Given the description of an element on the screen output the (x, y) to click on. 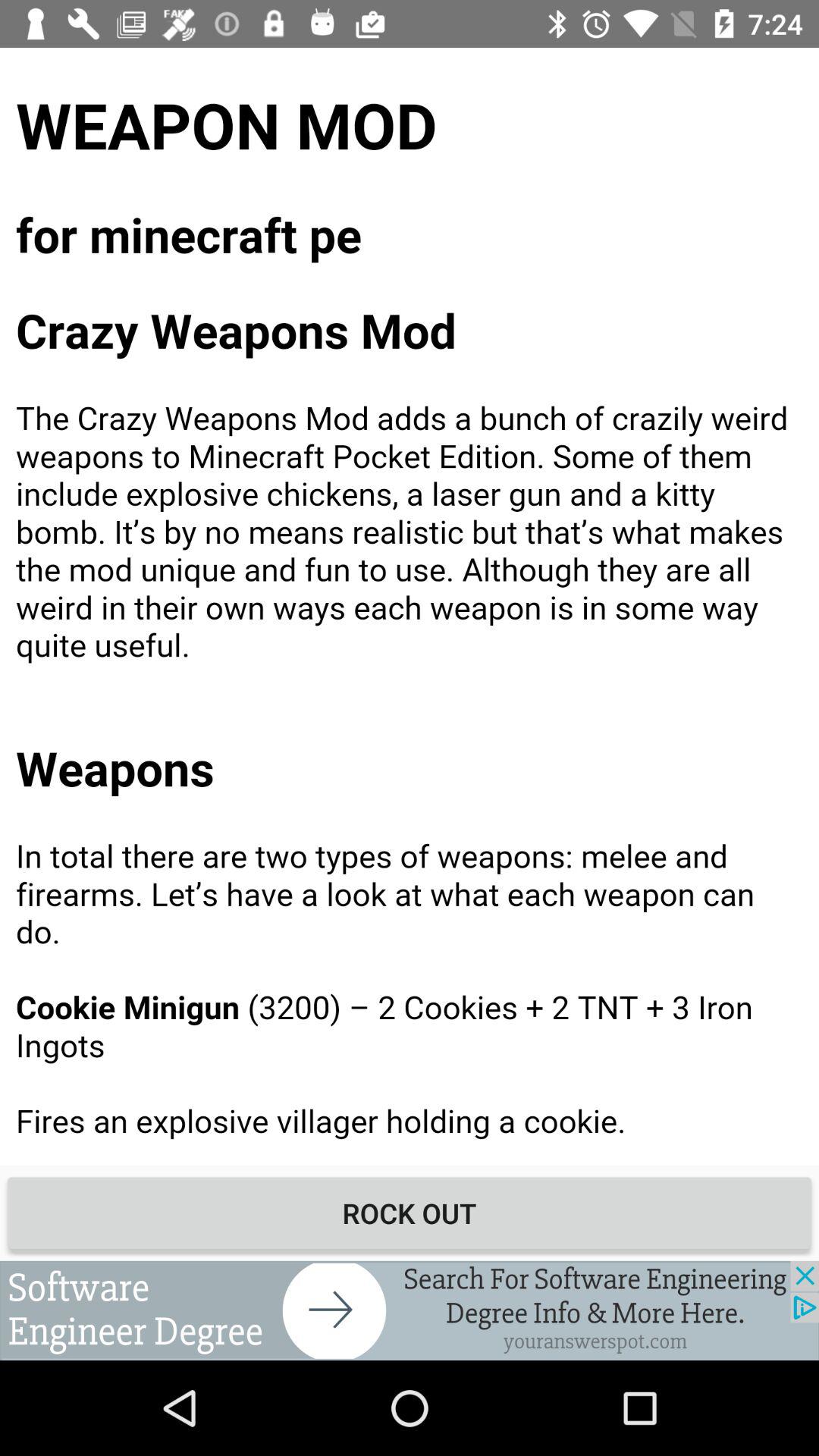
click advertisement (409, 1310)
